Given the description of an element on the screen output the (x, y) to click on. 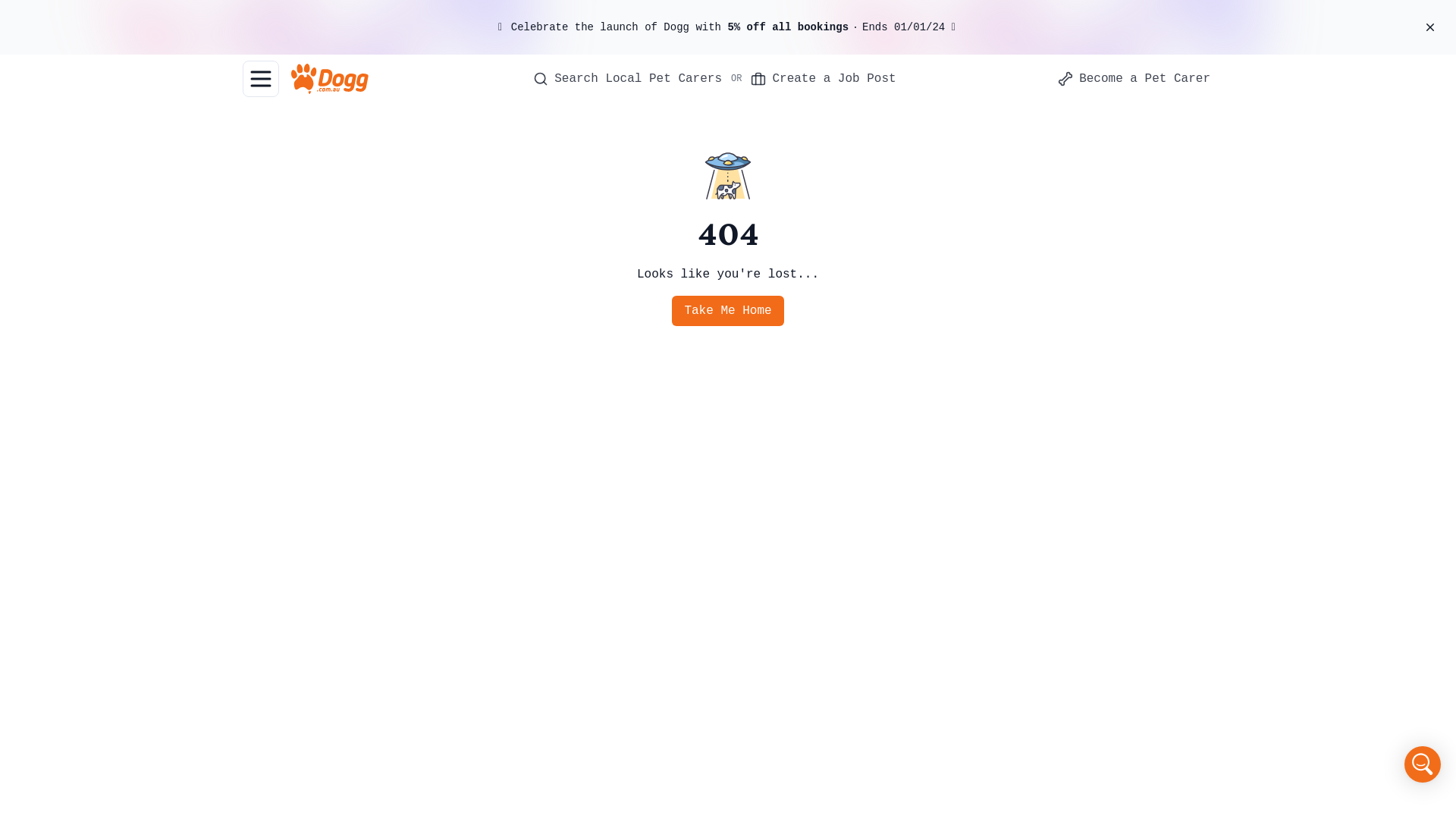
Search Local Pet Carers Element type: text (627, 78)
Create a Job Post Element type: text (822, 78)
Take Me Home Element type: text (727, 310)
Dismiss Element type: text (1429, 26)
Become a Pet Carer Element type: text (1133, 78)
